Given the description of an element on the screen output the (x, y) to click on. 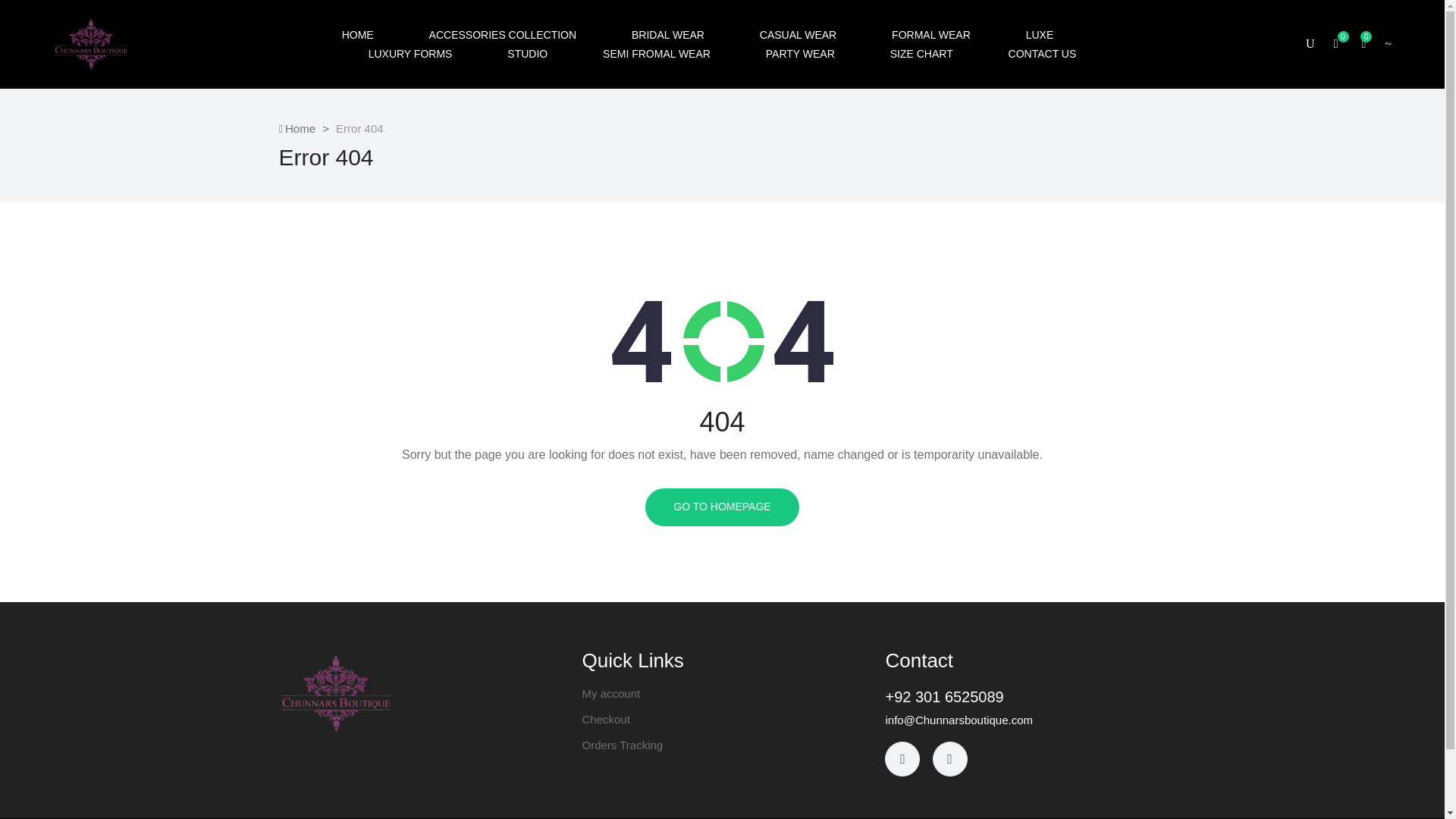
CASUAL WEAR (798, 35)
ACCESSORIES COLLECTION (503, 35)
sign in (1270, 309)
CONTACT US (1042, 53)
BRIDAL WEAR (668, 35)
logo (336, 693)
LUXURY FORMS (410, 53)
FORMAL WEAR (930, 35)
LUXE (1040, 35)
SIZE CHART (921, 53)
SEMI FROMAL WEAR (656, 53)
HOME (357, 35)
PARTY WEAR (799, 53)
STUDIO (526, 53)
